Given the description of an element on the screen output the (x, y) to click on. 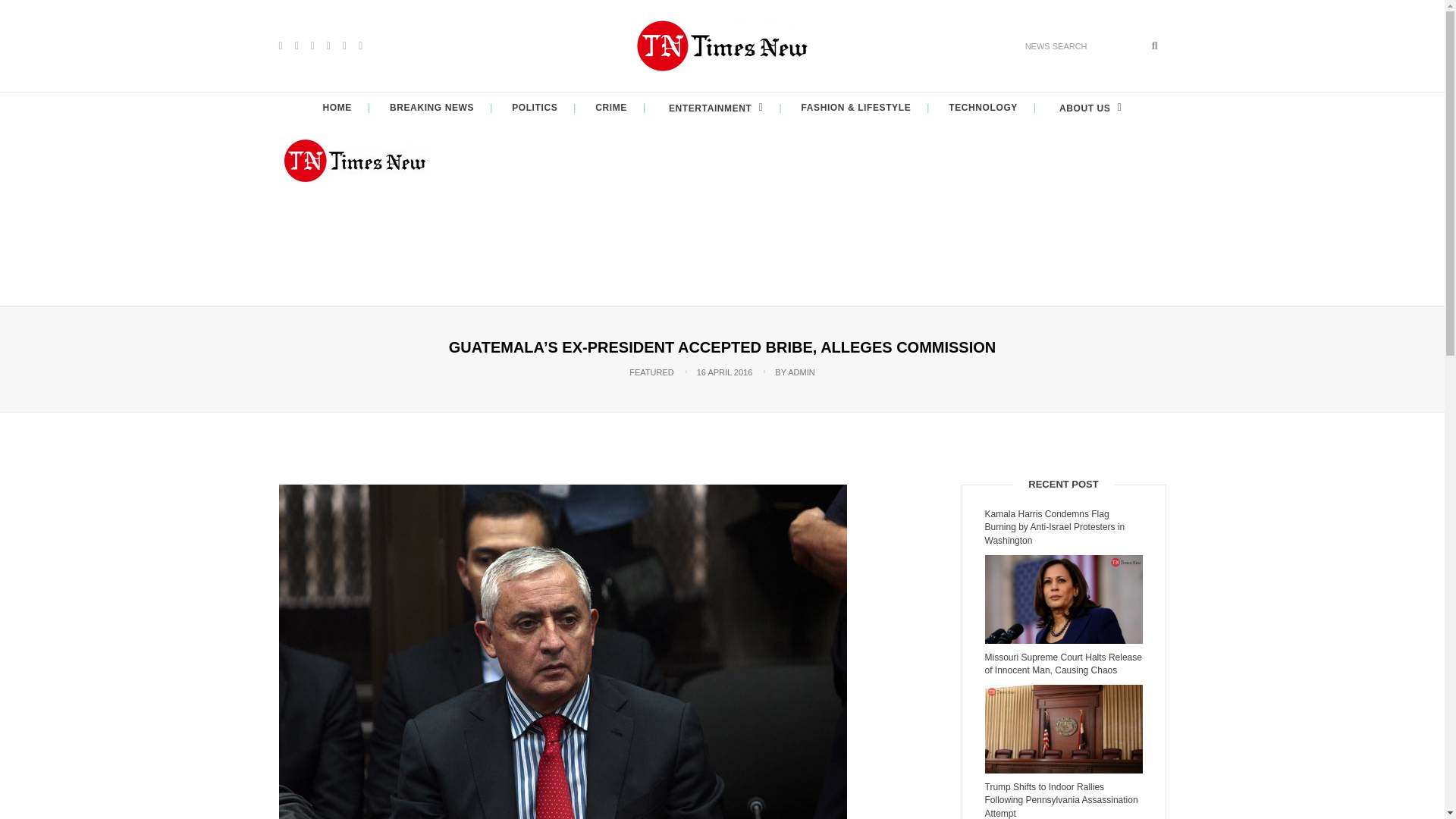
CRIME (611, 107)
BREAKING NEWS (432, 107)
TECHNOLOGY (983, 107)
POLITICS (534, 107)
ADMIN (800, 371)
ENTERTAINMENT (714, 107)
ABOUT US (1088, 107)
HOME (337, 107)
FEATURED (650, 371)
